Given the description of an element on the screen output the (x, y) to click on. 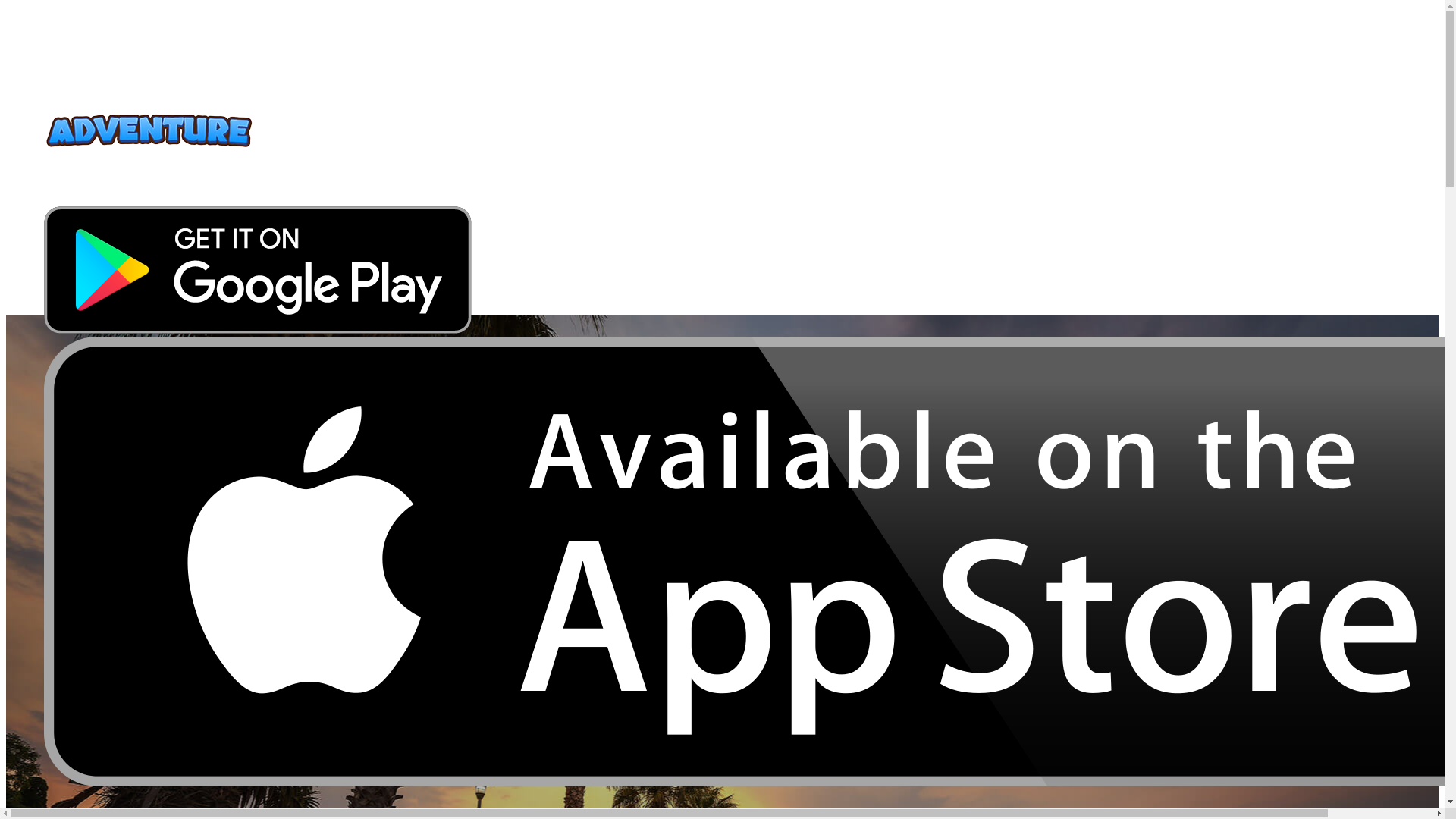
geemanji-logo-small-adventure Element type: hover (148, 131)
